Given the description of an element on the screen output the (x, y) to click on. 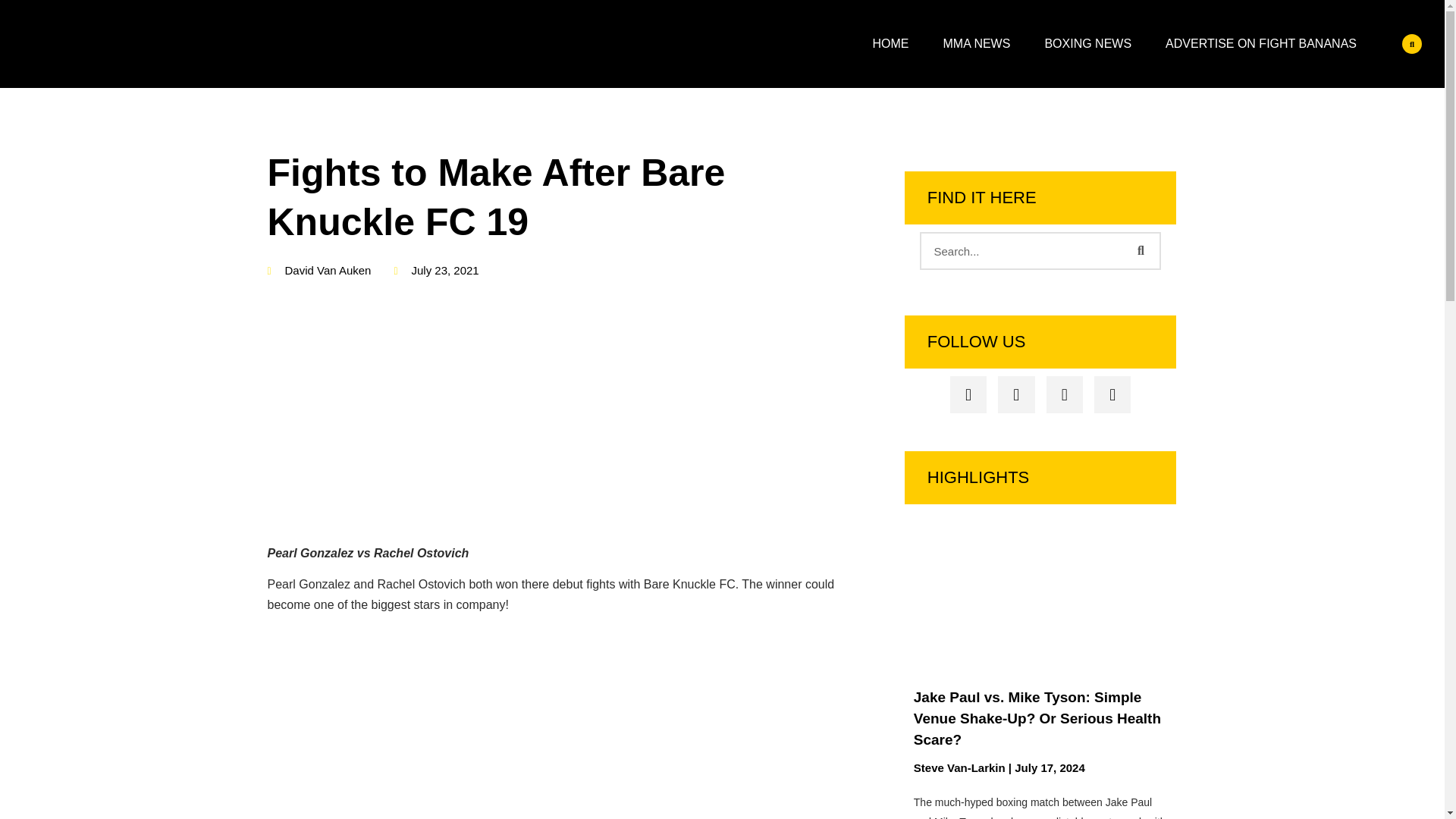
Search (1139, 250)
July 23, 2021 (436, 271)
ADVERTISE ON FIGHT BANANAS (1260, 43)
David Van Auken (318, 271)
MMA NEWS (977, 43)
BOXING NEWS (1088, 43)
Search (1021, 250)
HOME (890, 43)
